Given the description of an element on the screen output the (x, y) to click on. 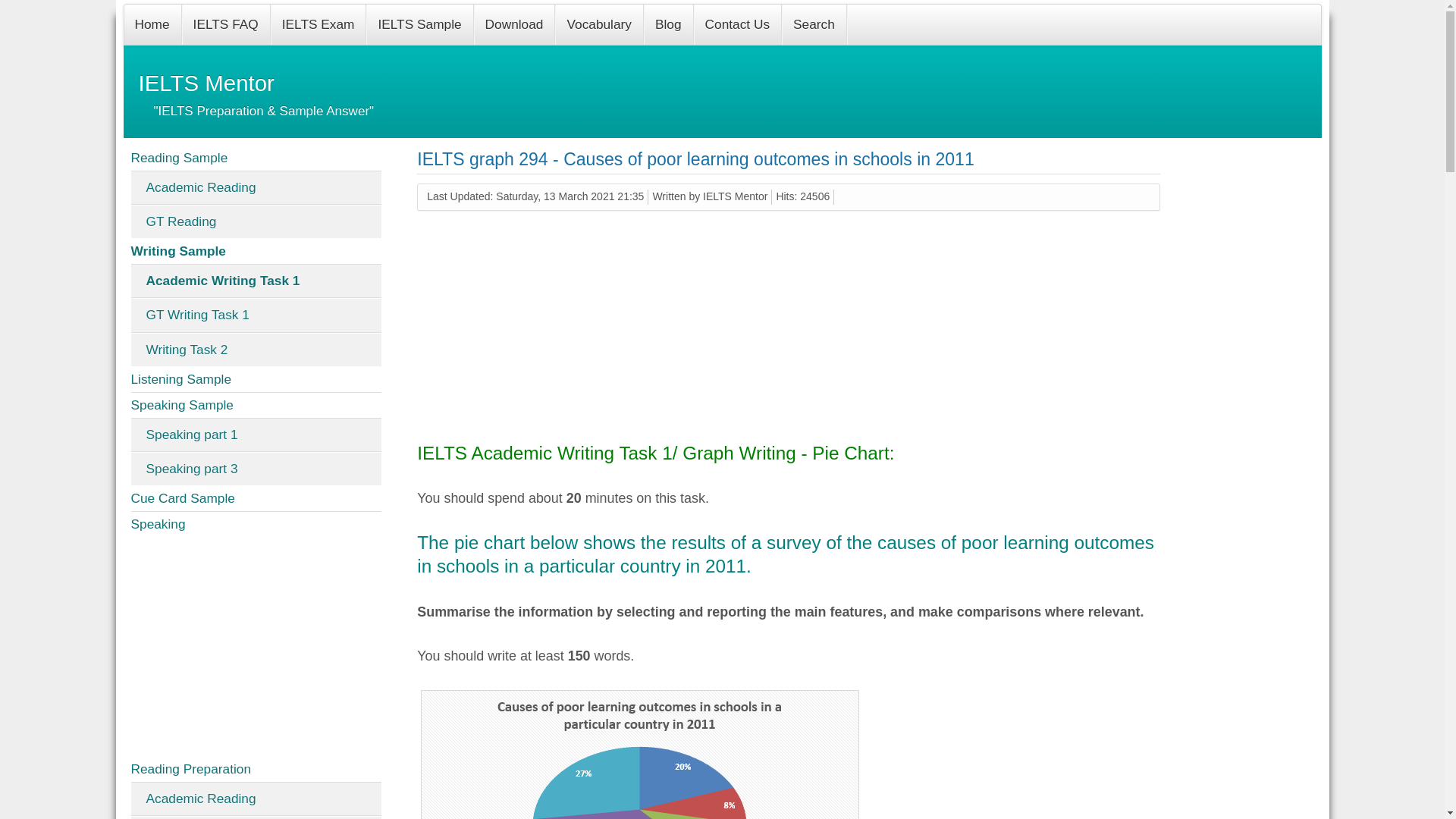
IELTS Sample (419, 24)
Home (151, 24)
Speaking (256, 524)
Academic Reading (256, 798)
Writing Task 2 (256, 349)
Reading Sample (256, 158)
Reading Preparation (256, 769)
Search (814, 24)
Speaking Sample (256, 405)
GT Writing Task 1 (256, 315)
Vocabulary (598, 24)
Download (515, 24)
IELTS Exam (318, 24)
Speaking part 1 (256, 435)
